Given the description of an element on the screen output the (x, y) to click on. 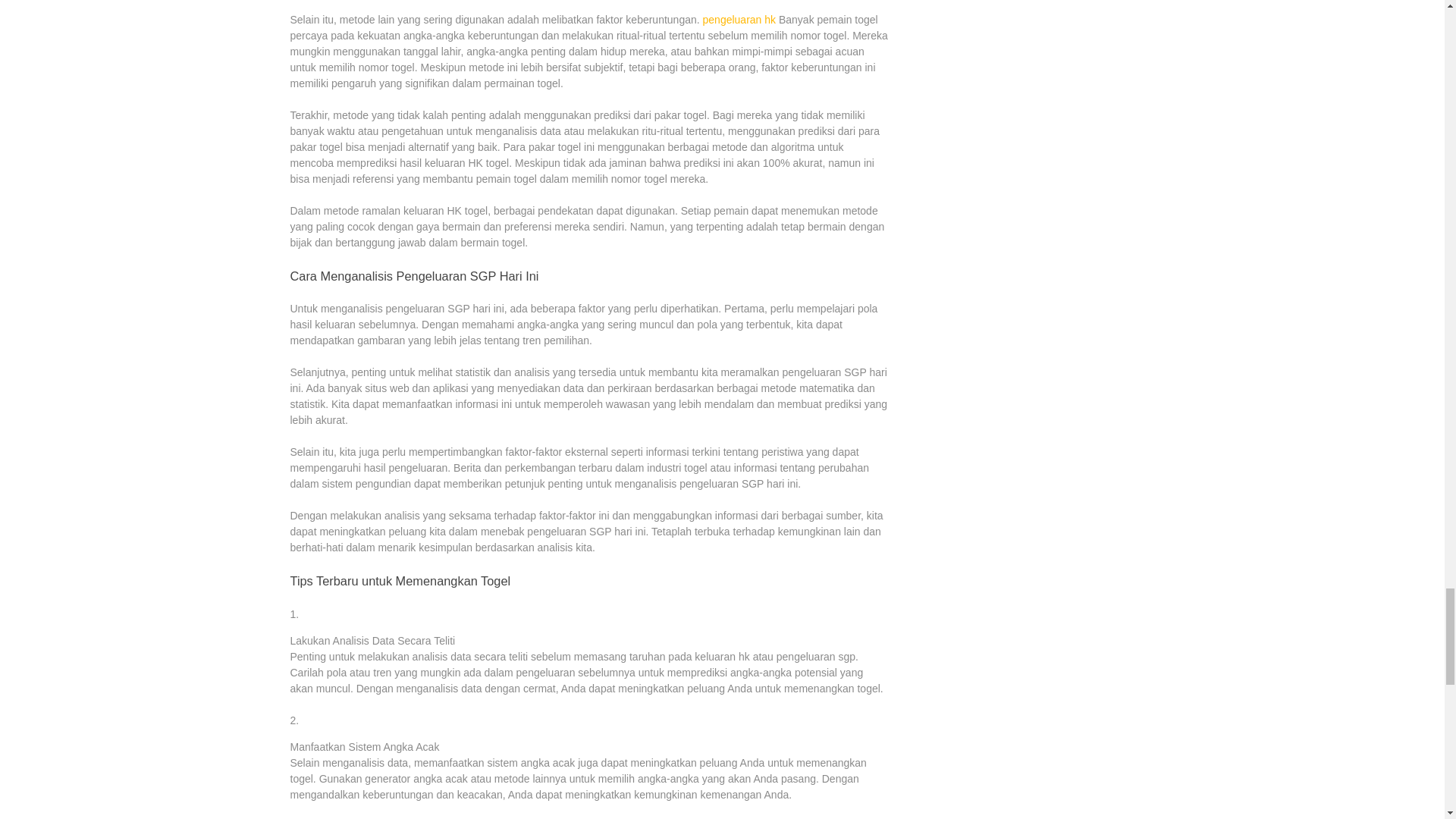
pengeluaran hk (739, 19)
